Given the description of an element on the screen output the (x, y) to click on. 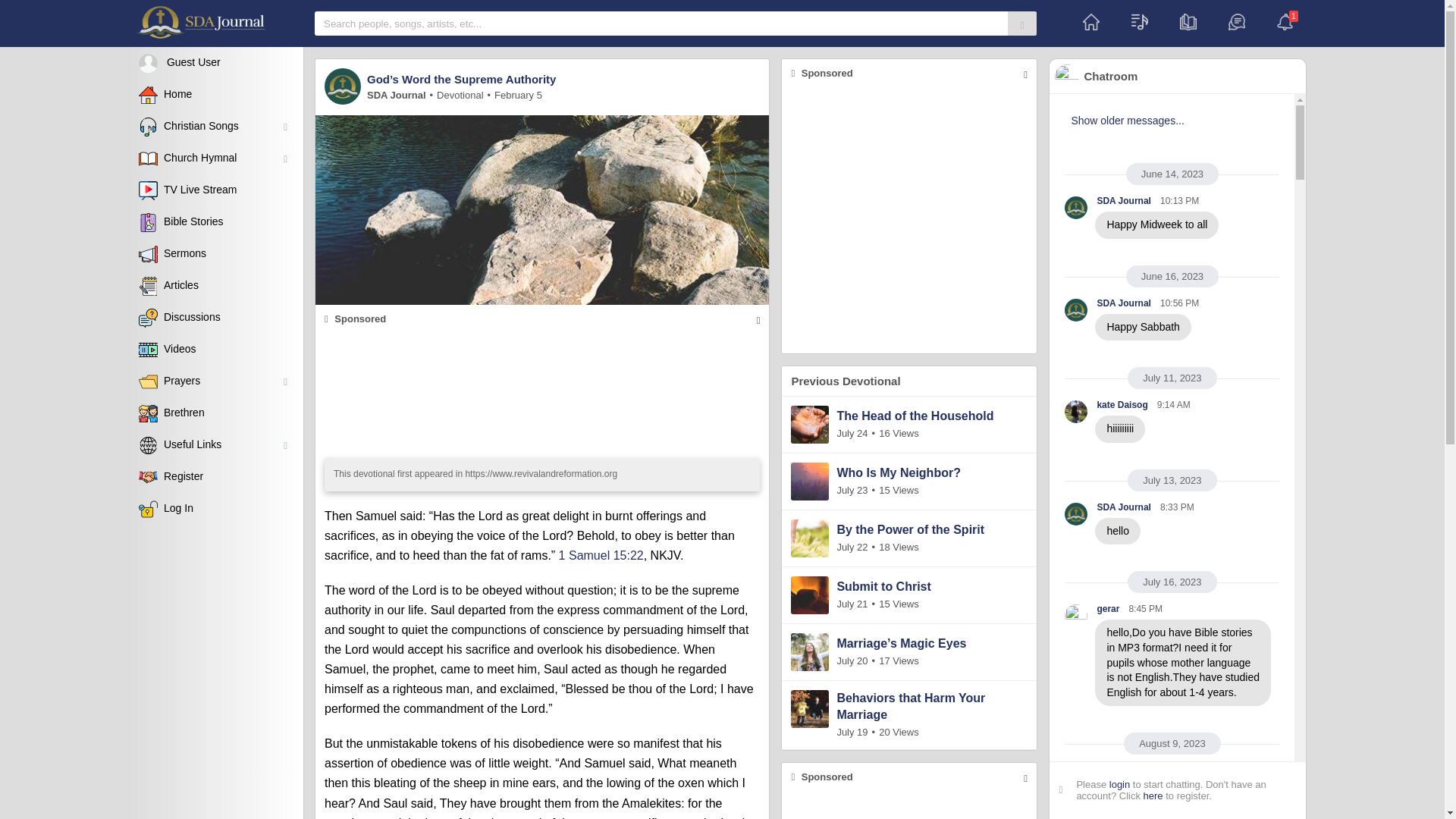
Sermons (215, 254)
Bible (1187, 23)
Advertisement (908, 805)
Guest User (215, 62)
TV Live Stream (215, 190)
Christian Songs (215, 126)
Articles (215, 286)
Minimize chatroom (1177, 75)
Bible Stories (215, 222)
Home (1091, 23)
Videos (215, 349)
Home (215, 94)
Brethren (215, 413)
Prayers (215, 381)
Advertisement (908, 219)
